Given the description of an element on the screen output the (x, y) to click on. 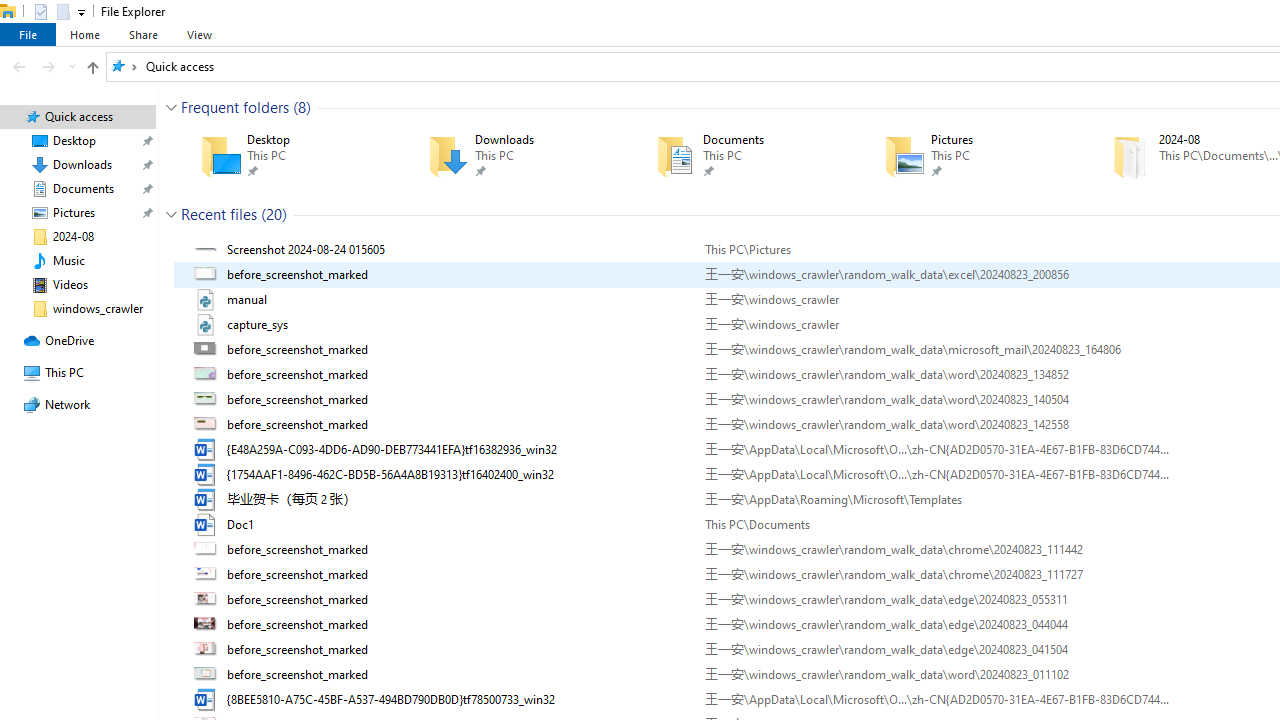
All locations (124, 65)
Desktop (286, 156)
Recent locations (71, 66)
View (199, 34)
Home (84, 34)
Up band toolbar (92, 70)
Customize Quick Access Toolbar (81, 11)
Back (Alt + Left Arrow) (18, 66)
Count (273, 213)
Up to "Desktop" (Alt + Up Arrow) (92, 67)
File tab (28, 34)
Documents (741, 156)
Forward (Alt + Right Arrow) (49, 66)
Class: UIImage (207, 699)
Collapse Group (171, 213)
